Given the description of an element on the screen output the (x, y) to click on. 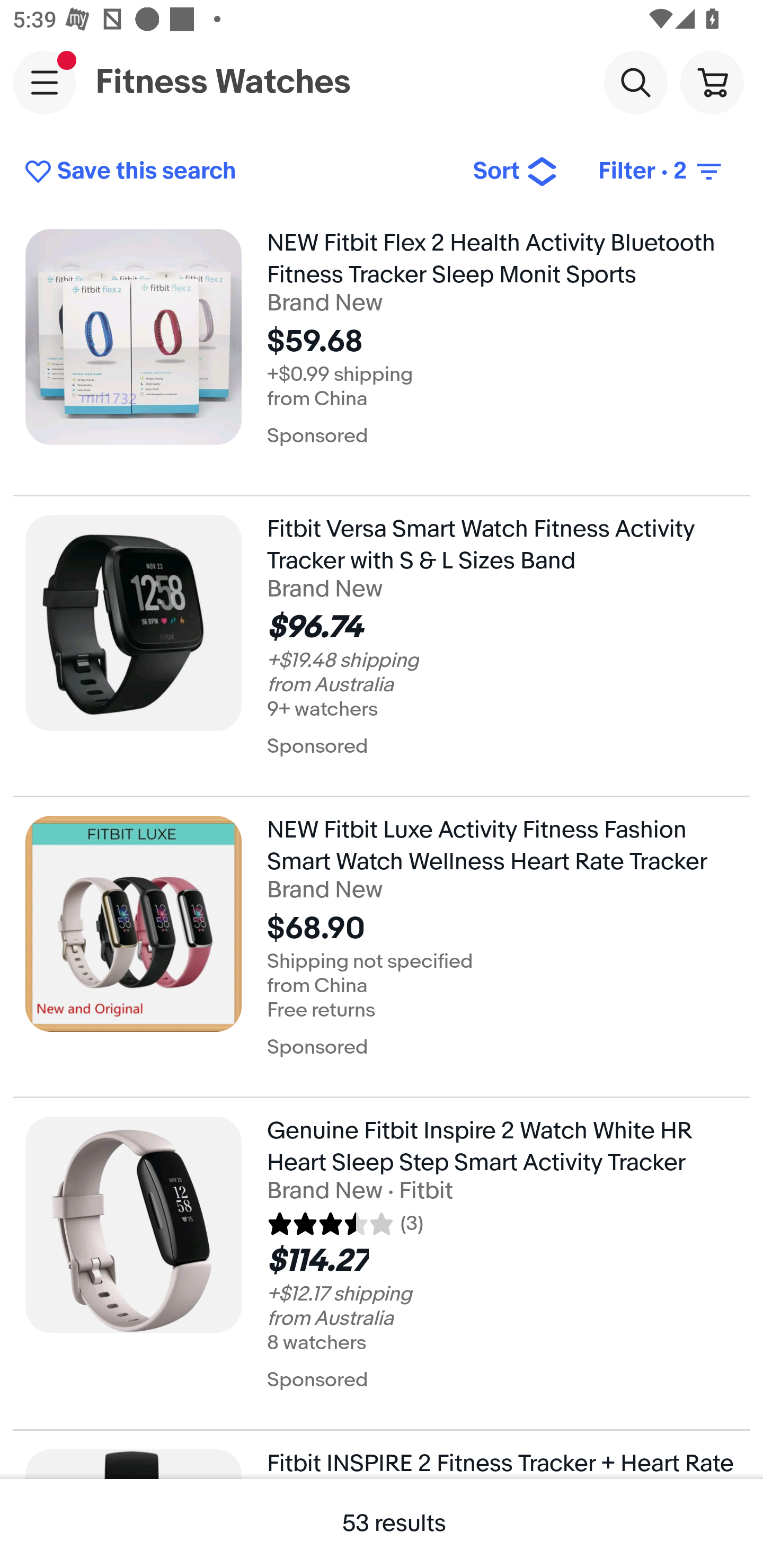
Main navigation, open (44, 82)
Search (635, 81)
Cart button shopping cart (711, 81)
Save this search (235, 171)
Sort (515, 171)
Filter • 2 Filter (2 applied) (661, 171)
